Given the description of an element on the screen output the (x, y) to click on. 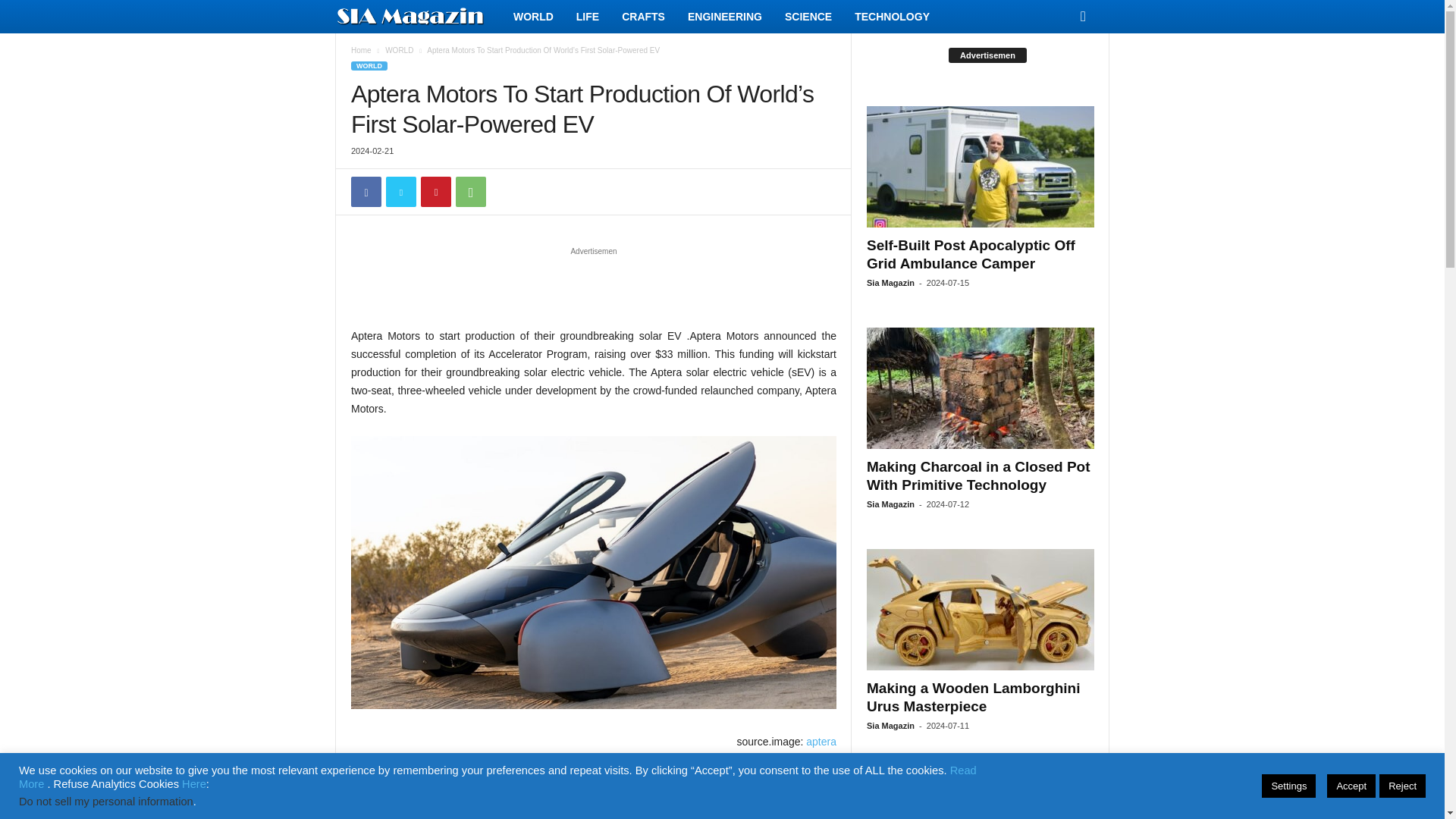
ENGINEERING (725, 16)
WhatsApp (470, 191)
TECHNOLOGY (891, 16)
aptera (820, 741)
Pinterest (435, 191)
Home (360, 49)
WORLD (533, 16)
Advertisement (593, 287)
CRAFTS (643, 16)
View all posts in WORLD (399, 49)
LIFE (587, 16)
Sia Magazin (418, 16)
